Given the description of an element on the screen output the (x, y) to click on. 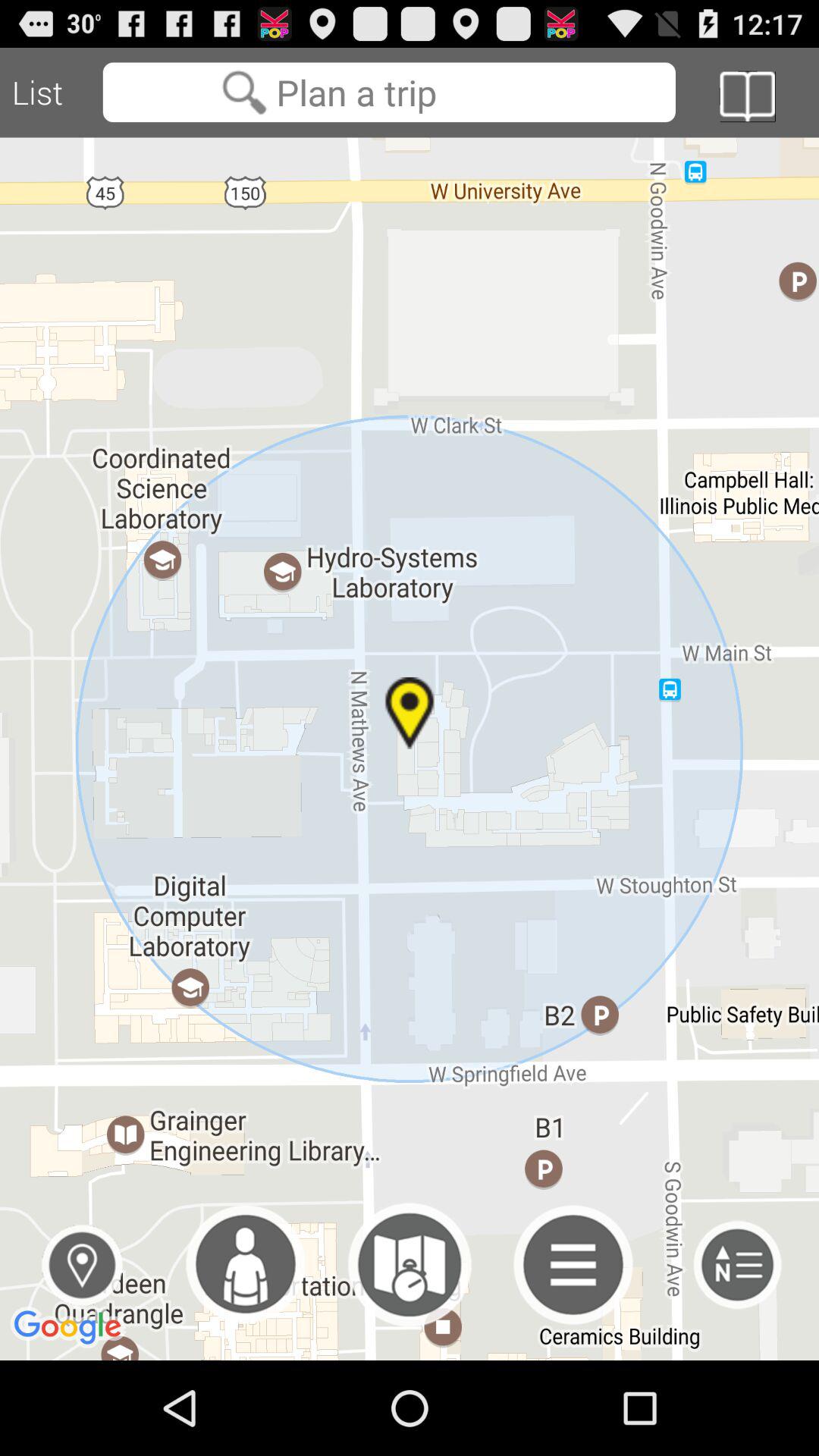
tap the icon below list item (409, 748)
